Given the description of an element on the screen output the (x, y) to click on. 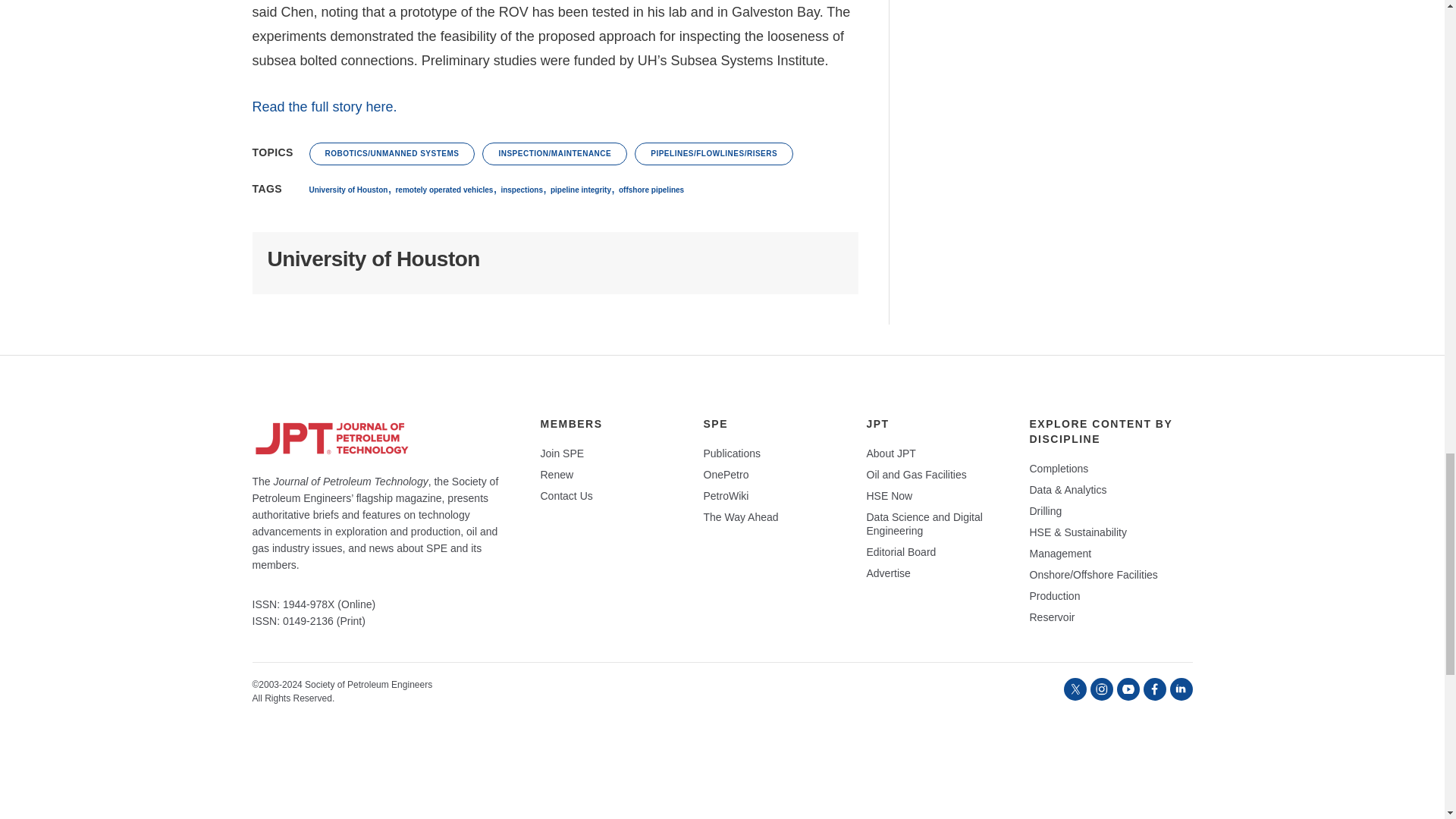
3rd party ad content (1040, 33)
